Given the description of an element on the screen output the (x, y) to click on. 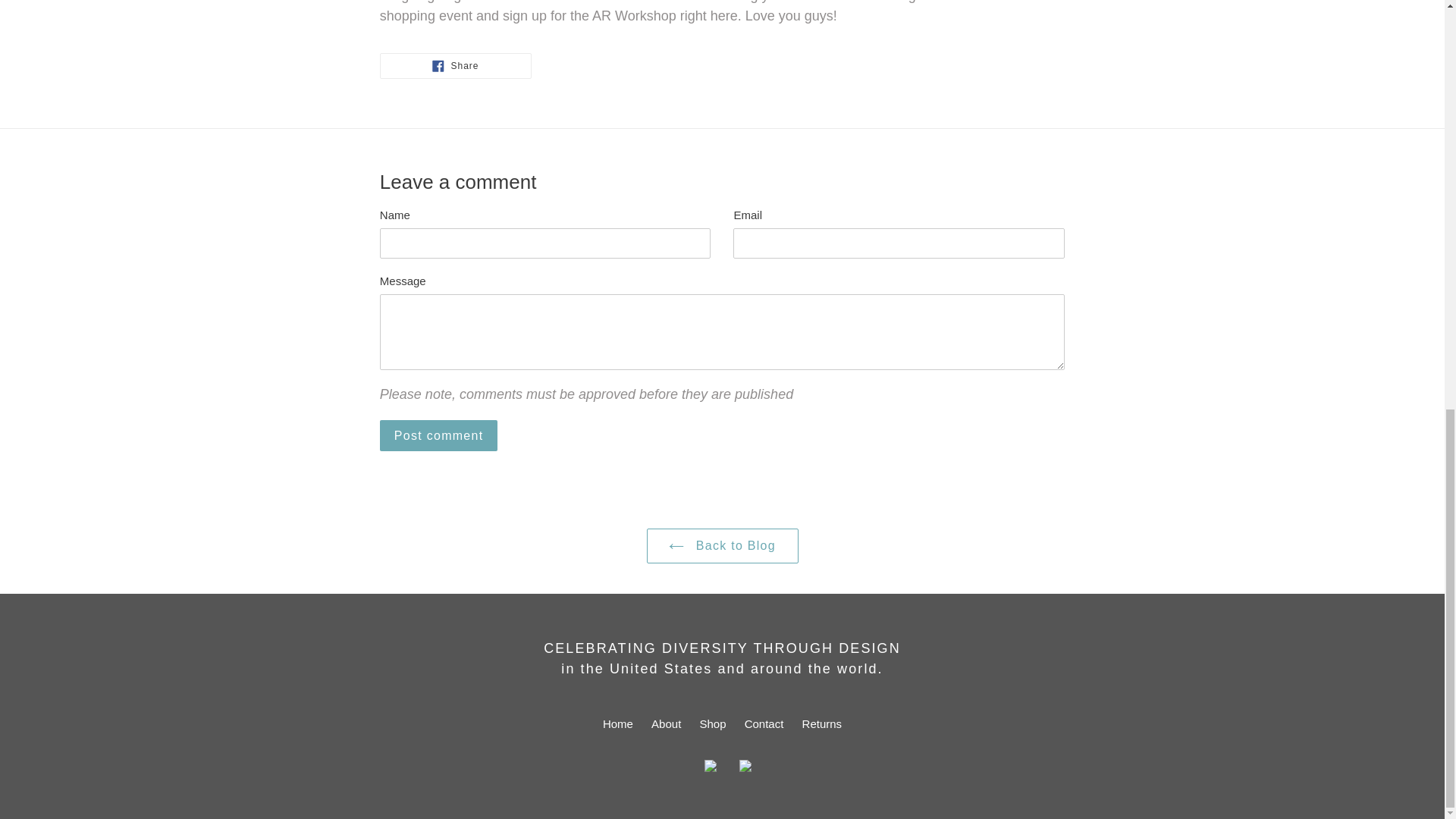
Contact (764, 724)
Home (455, 64)
About (617, 724)
Returns (665, 724)
Post comment (822, 724)
Back to Blog (438, 434)
Shop (721, 545)
Post comment (712, 724)
